Given the description of an element on the screen output the (x, y) to click on. 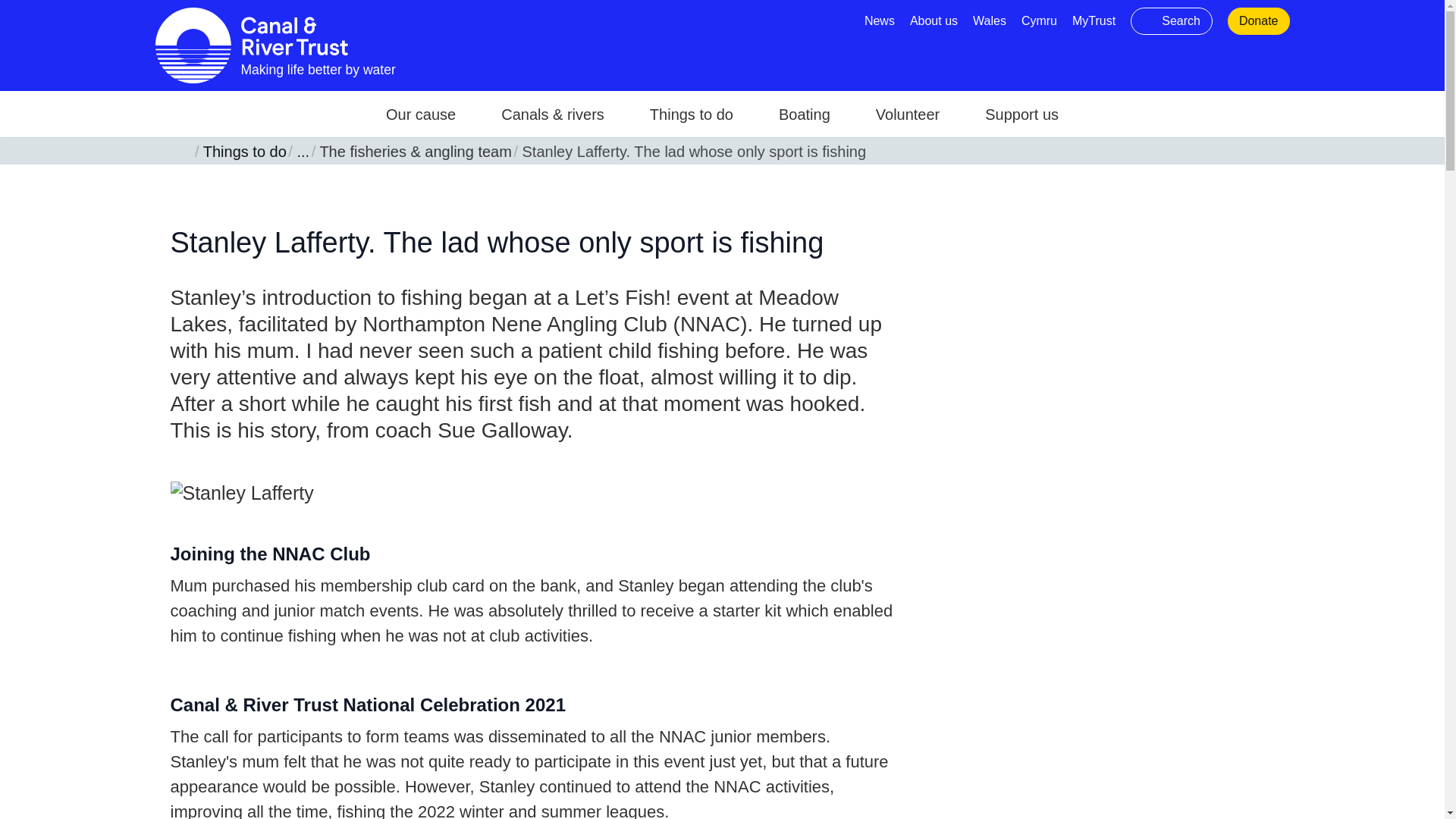
Things to do (691, 114)
Cymru (1039, 20)
Our cause (420, 114)
About us (934, 20)
Search (1171, 21)
Donate (1258, 20)
Boating (803, 114)
Support us (1021, 114)
News (879, 20)
MyTrust (1093, 20)
Wales (989, 20)
... (298, 150)
Things to do (240, 150)
Volunteer (908, 114)
